Given the description of an element on the screen output the (x, y) to click on. 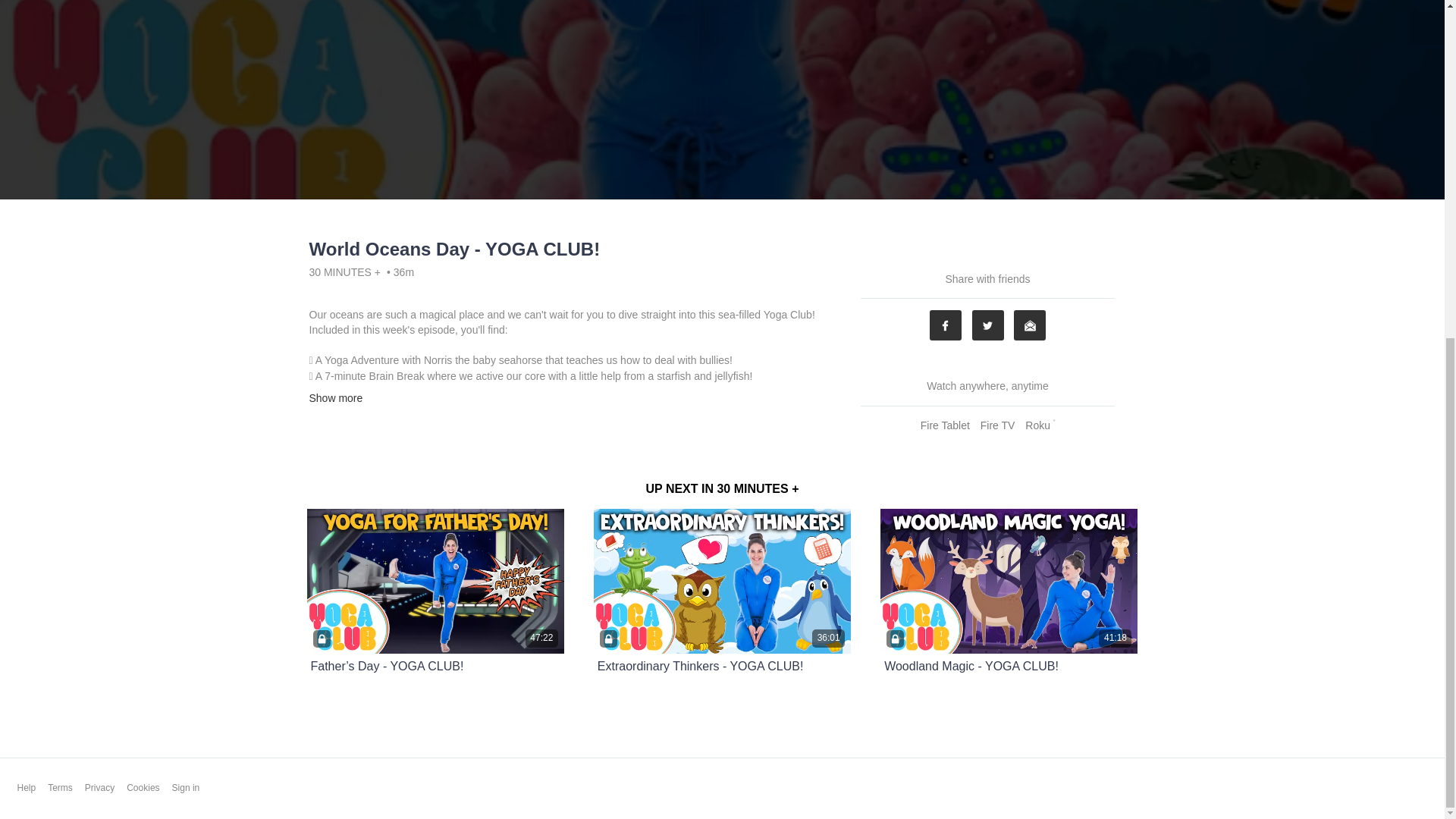
36:01 (722, 580)
Facebook (945, 325)
Extraordinary Thinkers - YOGA CLUB! (699, 666)
Email (1029, 325)
Woodland Magic - YOGA CLUB! (970, 666)
Fire Tablet (945, 425)
Twitter (988, 325)
47:22 (434, 580)
Fire TV (997, 425)
